Given the description of an element on the screen output the (x, y) to click on. 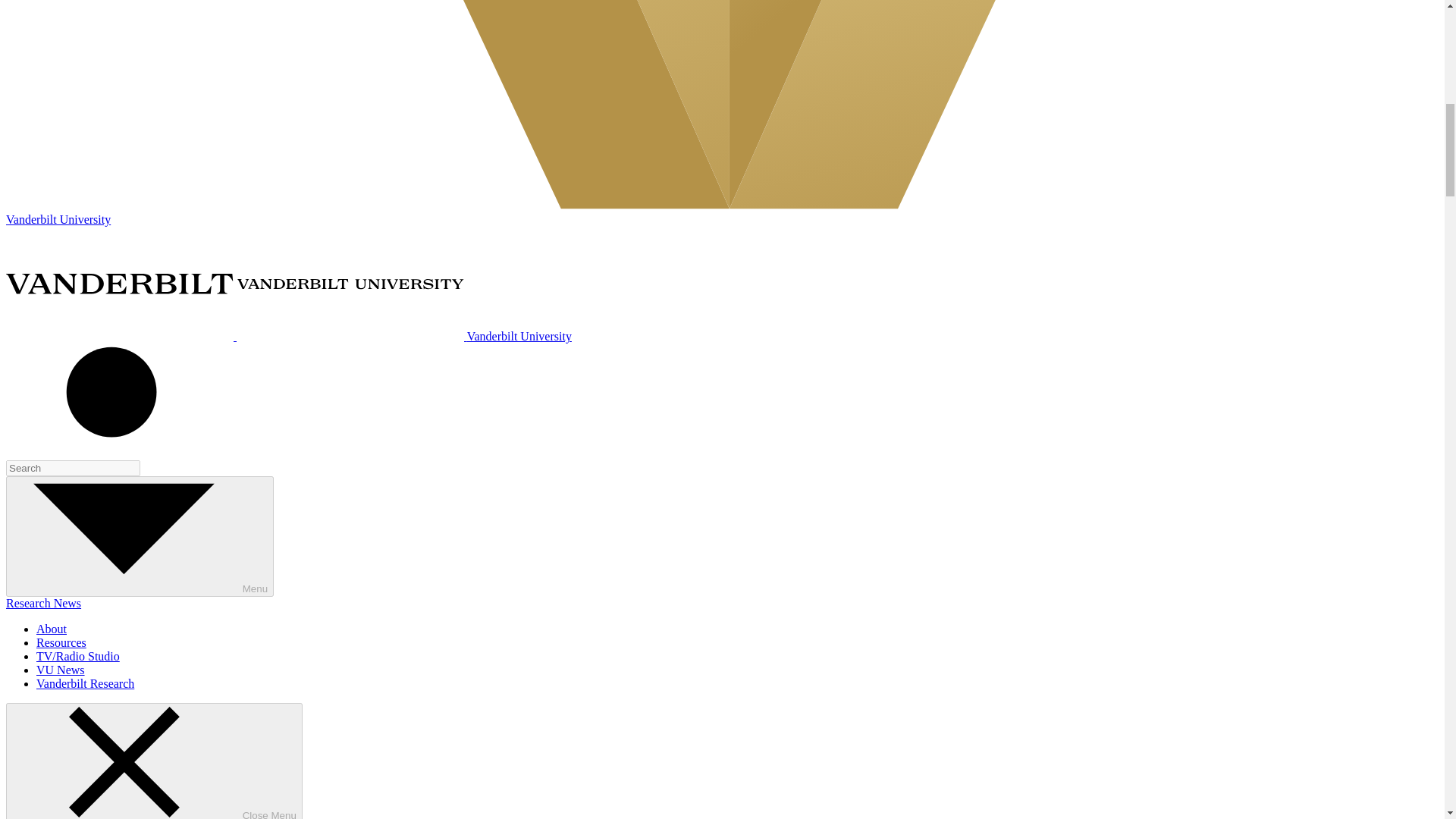
Research News (43, 603)
Resources (60, 642)
Menu (139, 536)
VU News (60, 669)
About (51, 628)
Vanderbilt Research (84, 683)
Close Menu (153, 760)
Vanderbilt University (288, 336)
